Given the description of an element on the screen output the (x, y) to click on. 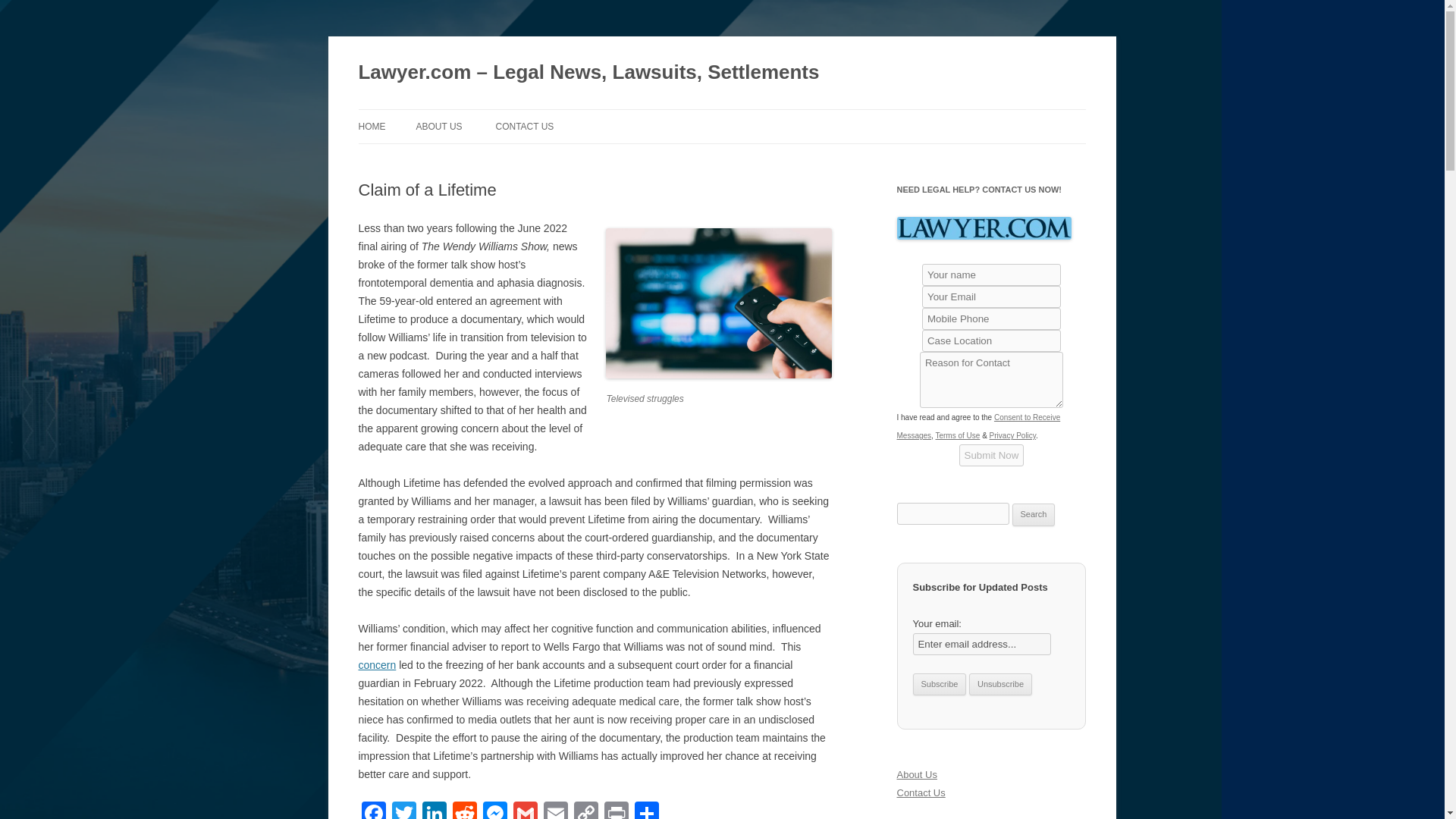
Gmail (524, 810)
Twitter (403, 810)
Subscribe (939, 684)
ABOUT US (437, 126)
Unsubscribe (1000, 684)
concern (377, 664)
Terms of Use (956, 435)
Search (1033, 514)
Messenger (494, 810)
Submit Now (992, 455)
Copy Link (584, 810)
Print (614, 810)
Enter email address... (981, 644)
Copy Link (584, 810)
Facebook (373, 810)
